Given the description of an element on the screen output the (x, y) to click on. 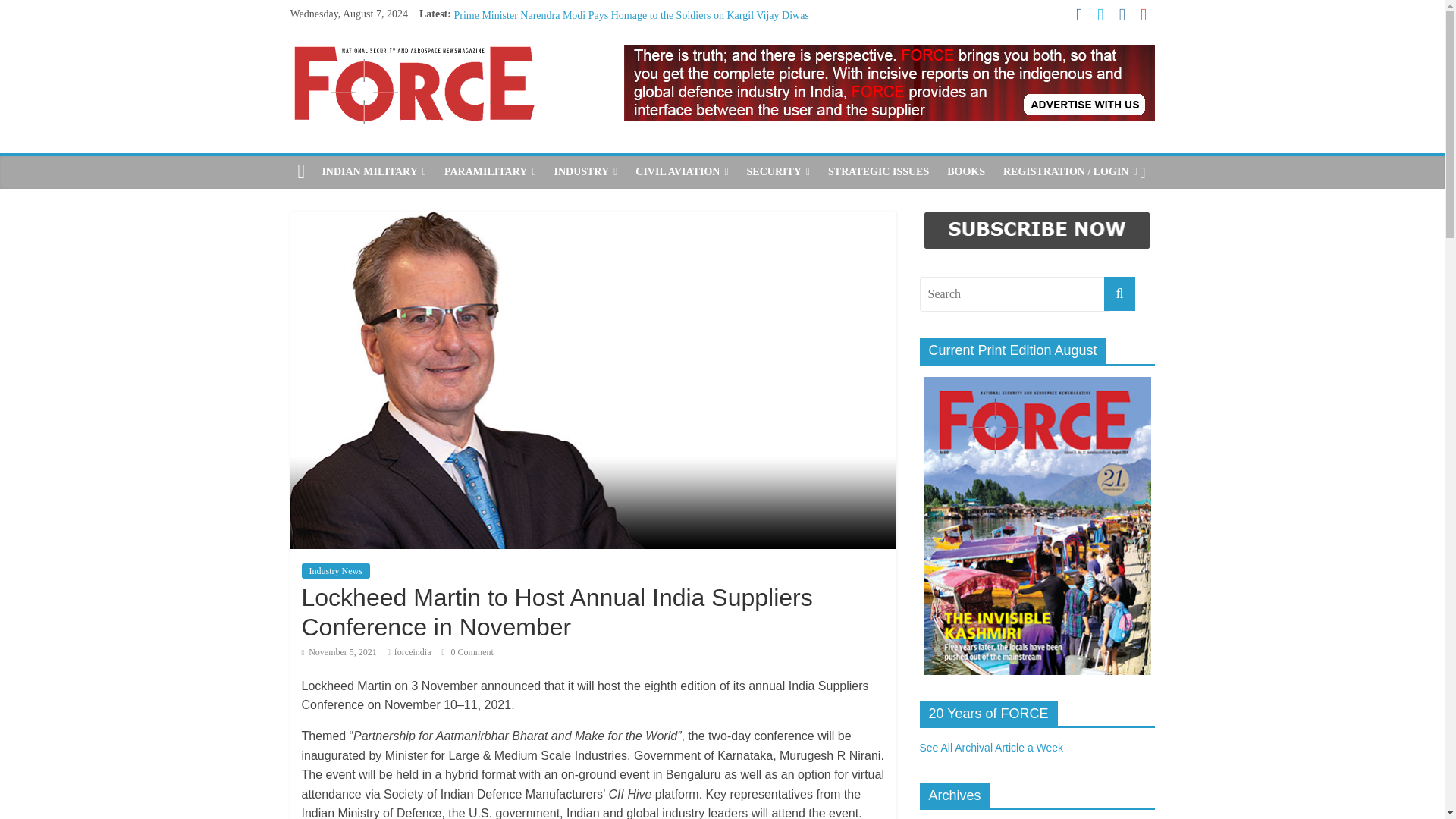
HENSOLDT Receives Major Orders for German Army Air Defence (597, 66)
CIVIL AVIATION (681, 172)
BOOKS (965, 172)
INDIAN MILITARY (374, 172)
HENSOLDT Receives Major Orders for German Army Air Defence (597, 66)
STRATEGIC ISSUES (877, 172)
SECURITY (778, 172)
INDUSTRY (585, 172)
forceindia (412, 652)
